Given the description of an element on the screen output the (x, y) to click on. 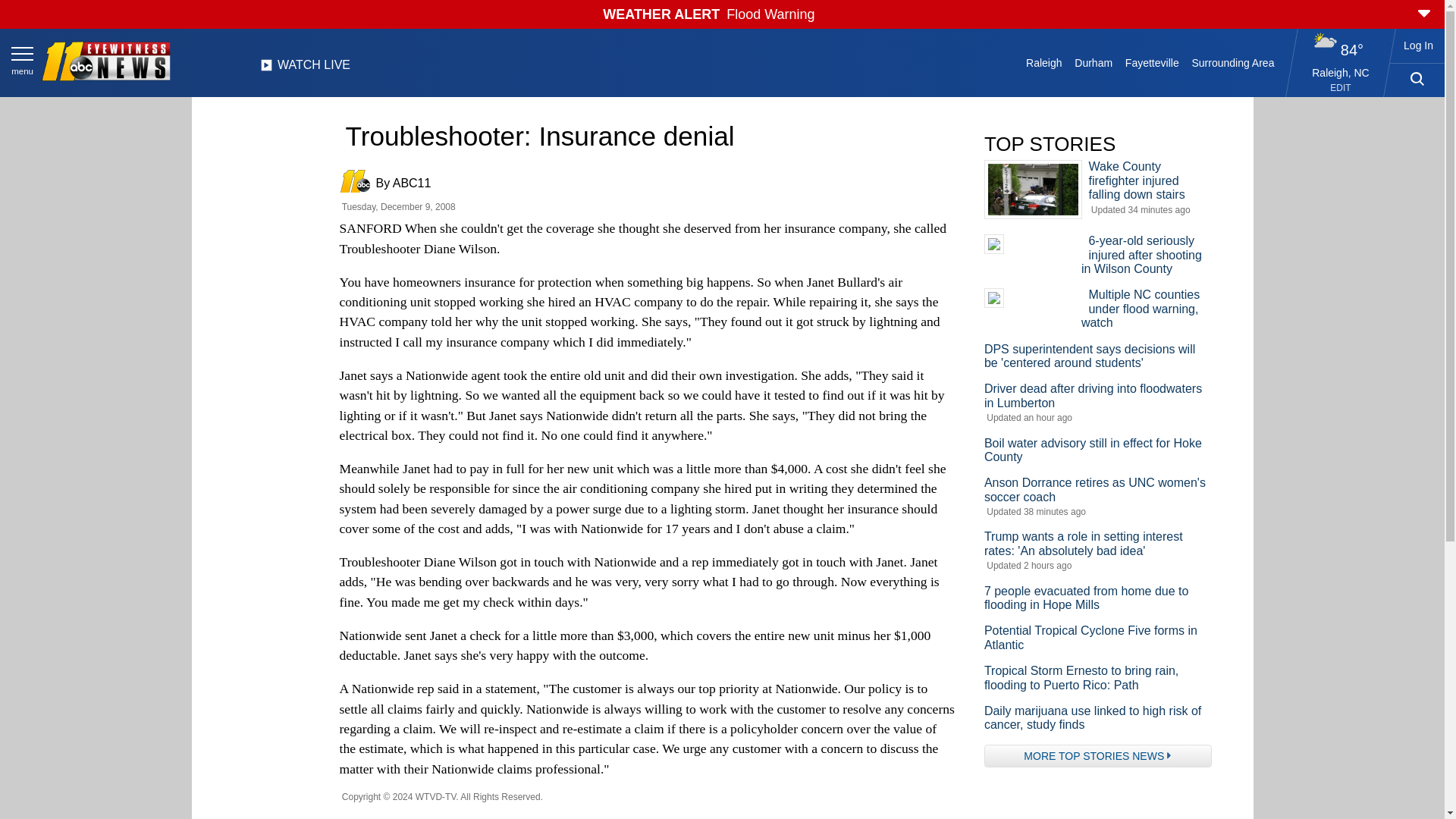
Durham (1093, 62)
WATCH LIVE (305, 69)
Fayetteville (1151, 62)
Raleigh (1044, 62)
Surrounding Area (1233, 62)
Raleigh, NC (1340, 72)
EDIT (1340, 87)
